Given the description of an element on the screen output the (x, y) to click on. 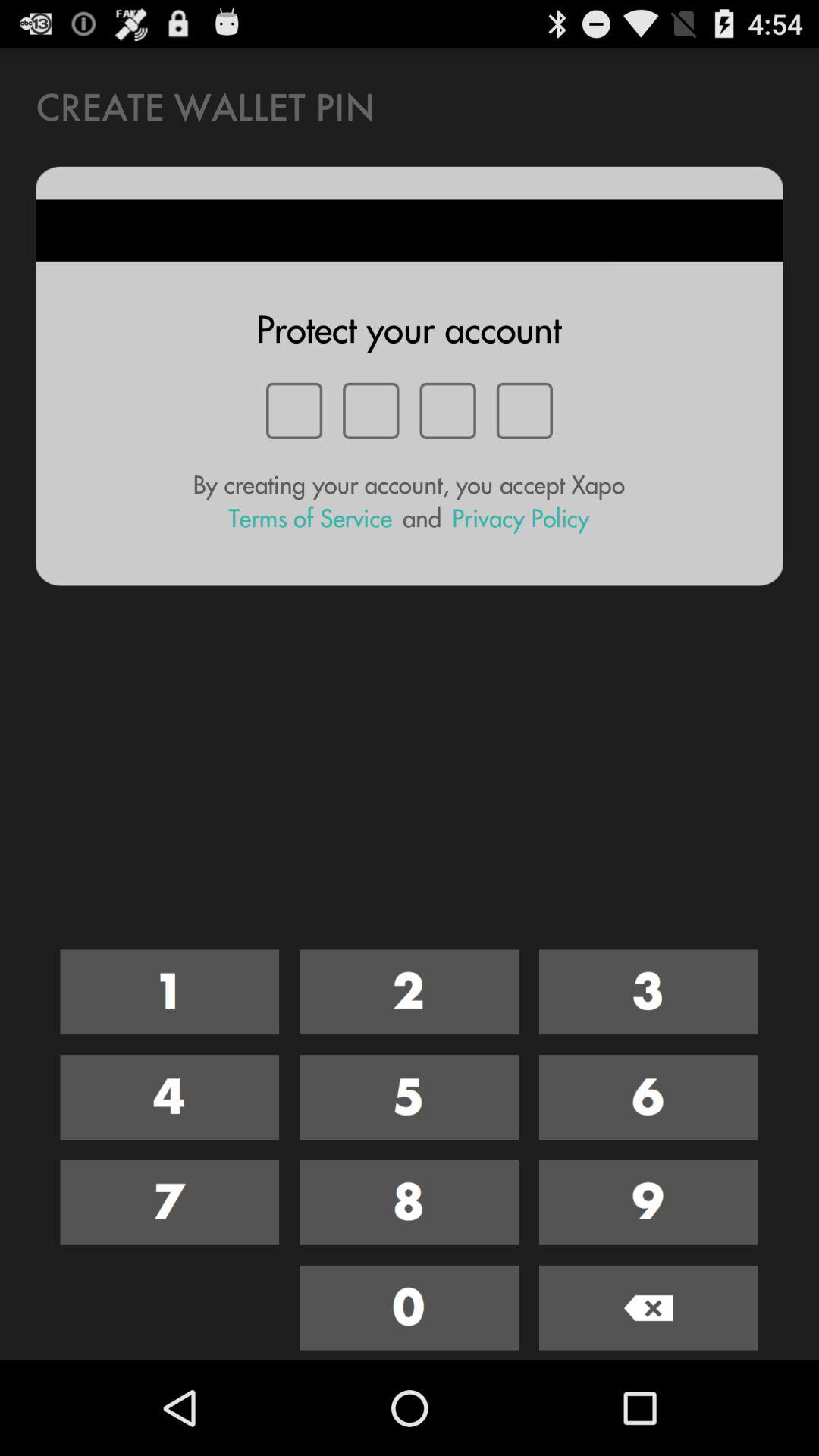
enter 6 (648, 1097)
